Given the description of an element on the screen output the (x, y) to click on. 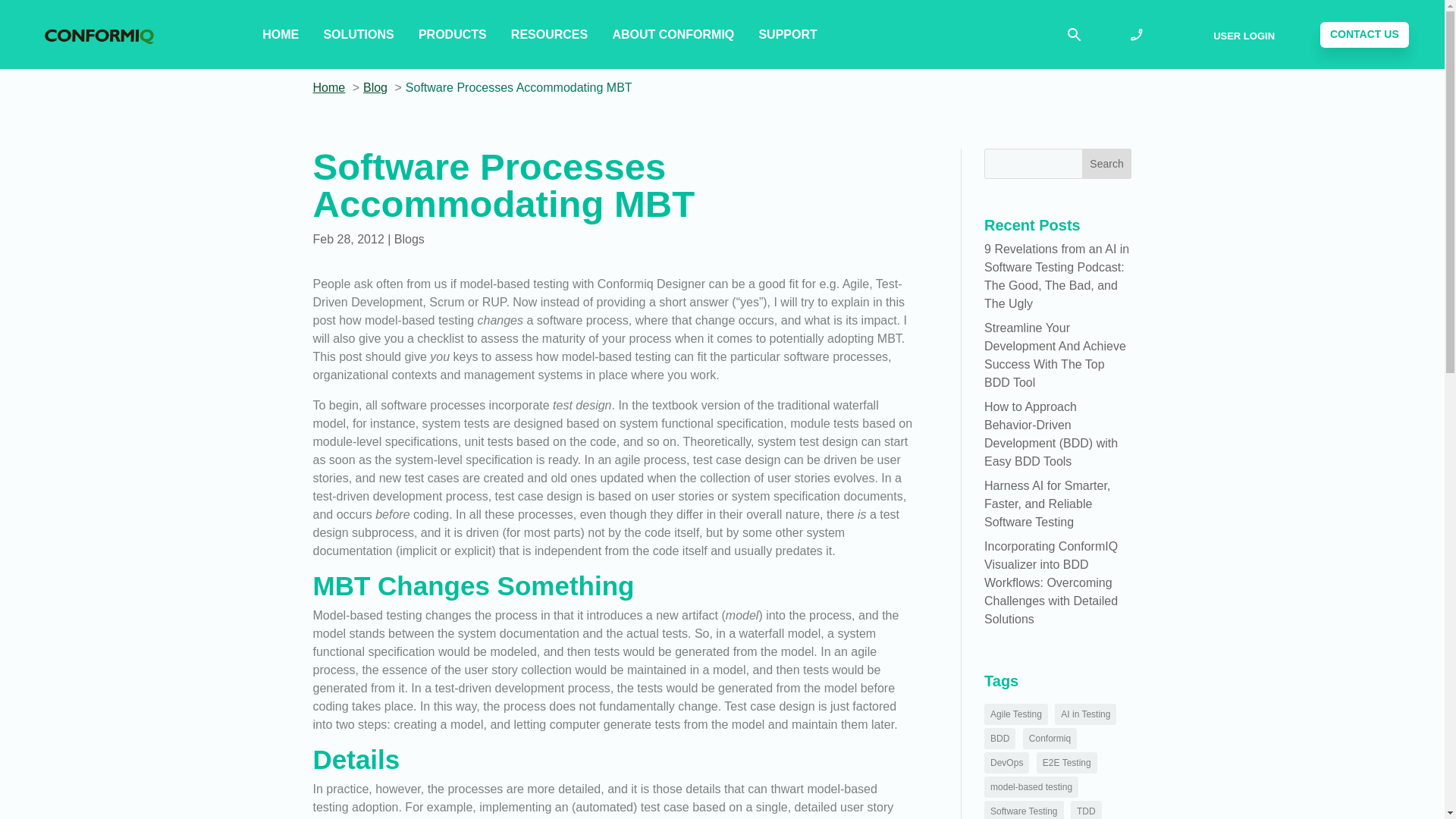
RESOURCES (549, 34)
SOLUTIONS (358, 34)
Blogs (409, 238)
Blog (374, 87)
Search (1106, 163)
ABOUT CONFORMIQ (672, 34)
CONTACT US (1364, 34)
PRODUCTS (452, 34)
